Given the description of an element on the screen output the (x, y) to click on. 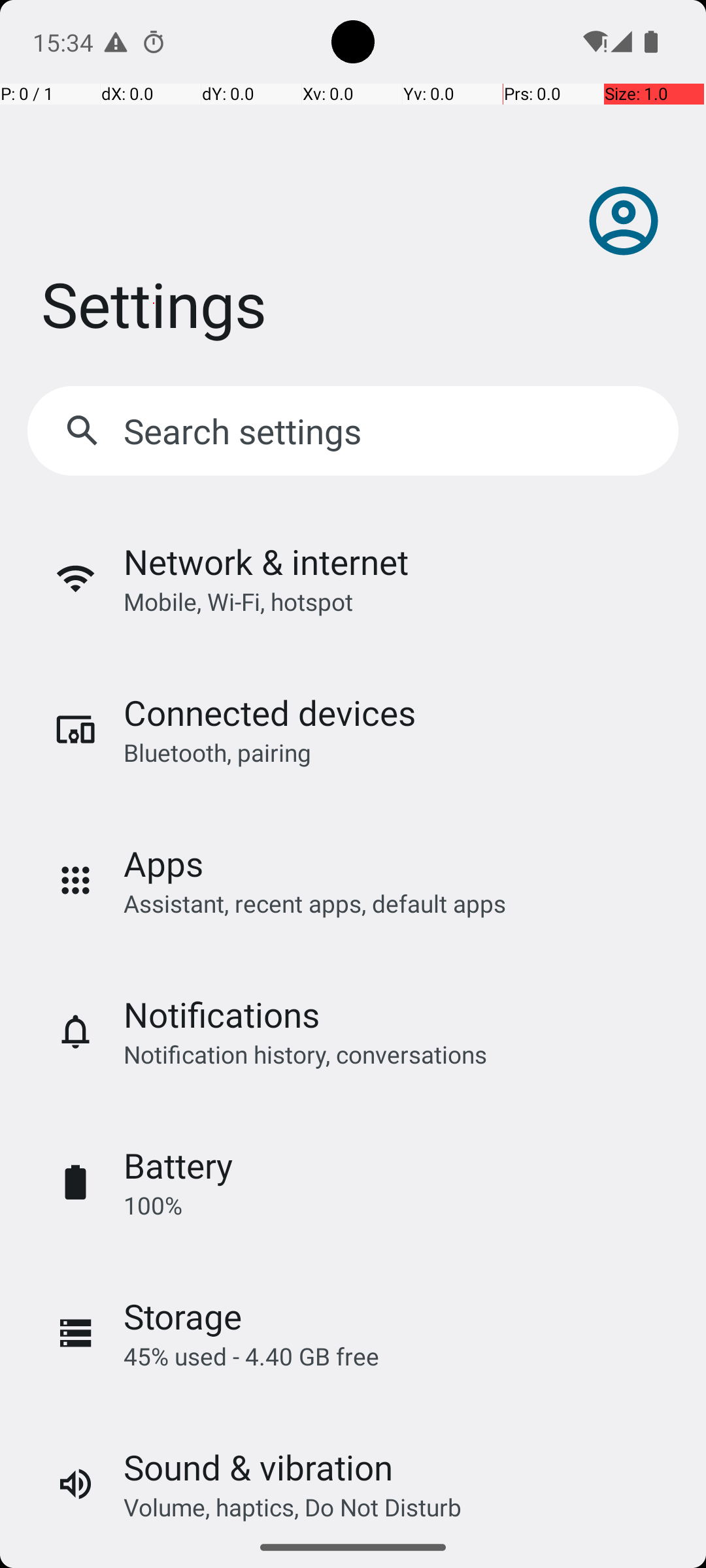
Profile picture, double tap to open Google Account Element type: android.widget.ImageView (623, 220)
Search settings Element type: android.widget.TextView (245, 430)
Network & internet Element type: android.widget.TextView (265, 561)
Mobile, Wi‑Fi, hotspot Element type: android.widget.TextView (238, 601)
Connected devices Element type: android.widget.TextView (269, 712)
Bluetooth, pairing Element type: android.widget.TextView (217, 751)
Apps Element type: android.widget.TextView (163, 863)
Assistant, recent apps, default apps Element type: android.widget.TextView (314, 902)
Notification history, conversations Element type: android.widget.TextView (305, 1053)
Battery Element type: android.widget.TextView (178, 1165)
100% Element type: android.widget.TextView (152, 1204)
Storage Element type: android.widget.TextView (182, 1315)
45% used - 4.40 GB free Element type: android.widget.TextView (251, 1355)
Sound & vibration Element type: android.widget.TextView (257, 1466)
Volume, haptics, Do Not Disturb Element type: android.widget.TextView (292, 1506)
Android System notification:  Element type: android.widget.ImageView (115, 41)
